Given the description of an element on the screen output the (x, y) to click on. 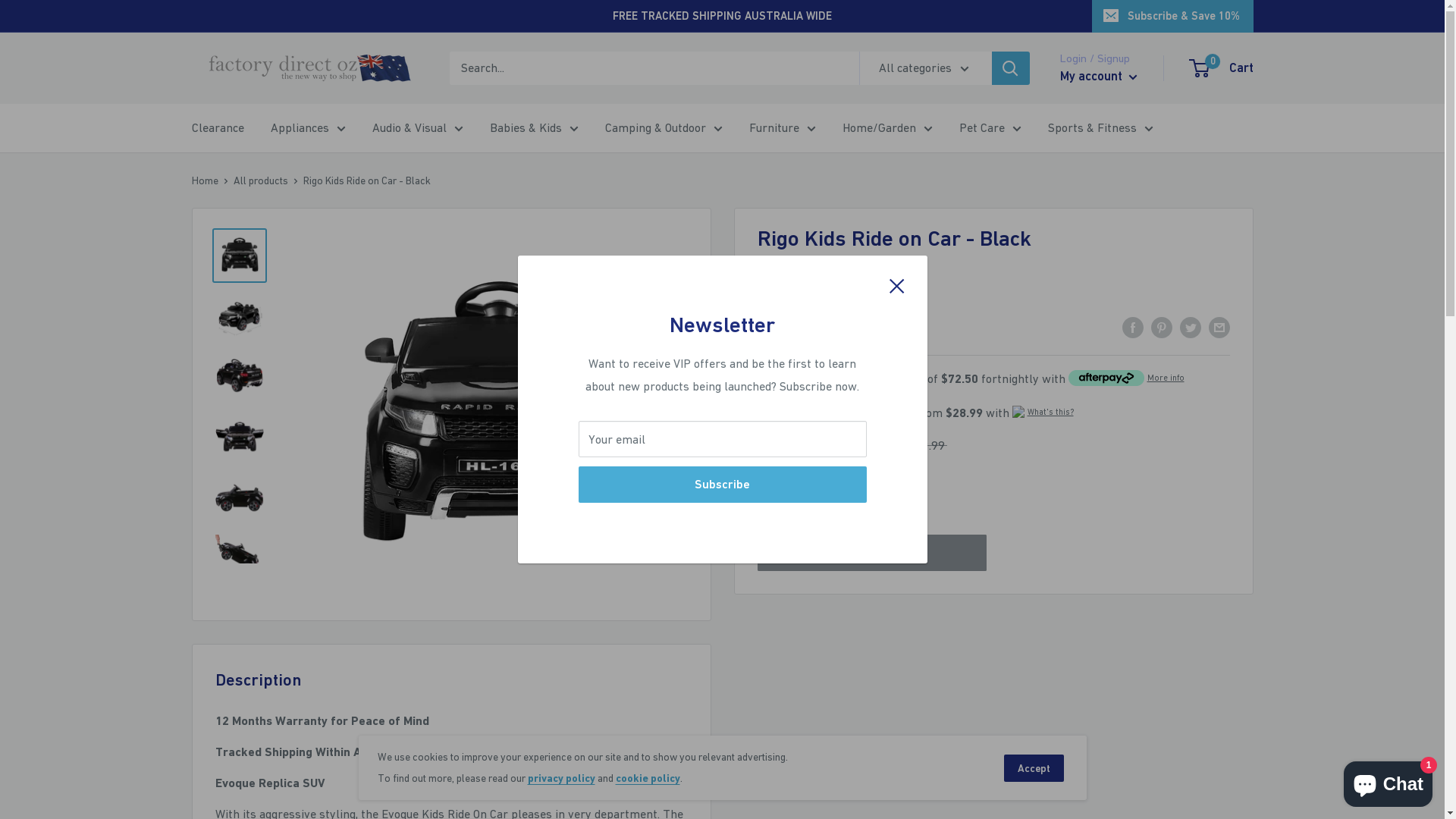
My account Element type: text (1098, 76)
Shopify online store chat Element type: hover (1388, 780)
cookie policy Element type: text (647, 777)
Sports & Fitness Element type: text (1100, 127)
Appliances Element type: text (307, 127)
Home/Garden Element type: text (886, 127)
All products Element type: text (260, 180)
Camping & Outdoor Element type: text (663, 127)
privacy policy Element type: text (561, 777)
Babies & Kids Element type: text (533, 127)
Accept Element type: text (1033, 767)
0
Cart Element type: text (1221, 68)
Sold out Element type: text (871, 552)
Audio & Visual Element type: text (416, 127)
Furniture Element type: text (782, 127)
FACTORY DIRECT OZ Element type: text (803, 304)
Clearance Element type: text (217, 127)
Subscribe & Save 10% Element type: text (1172, 15)
Home Element type: text (204, 180)
What's this? Element type: text (1049, 411)
Pet Care Element type: text (989, 127)
More info Element type: text (1164, 377)
